Given the description of an element on the screen output the (x, y) to click on. 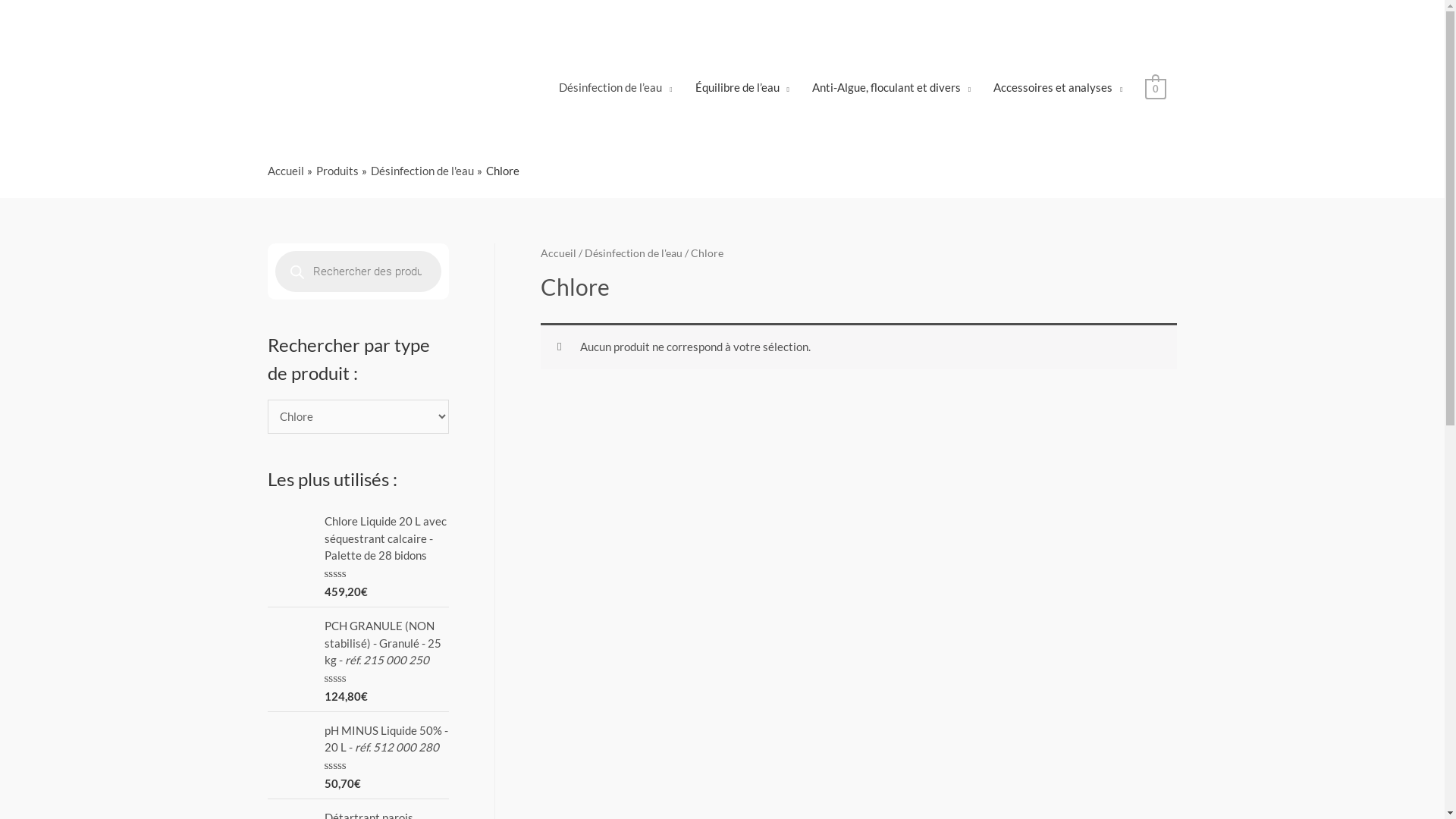
Anti-Algue, floculant et divers Element type: text (891, 86)
Produits Element type: text (336, 170)
Accueil Element type: text (557, 252)
0 Element type: text (1155, 87)
Accueil Element type: text (284, 170)
Accessoires et analyses Element type: text (1057, 86)
